Given the description of an element on the screen output the (x, y) to click on. 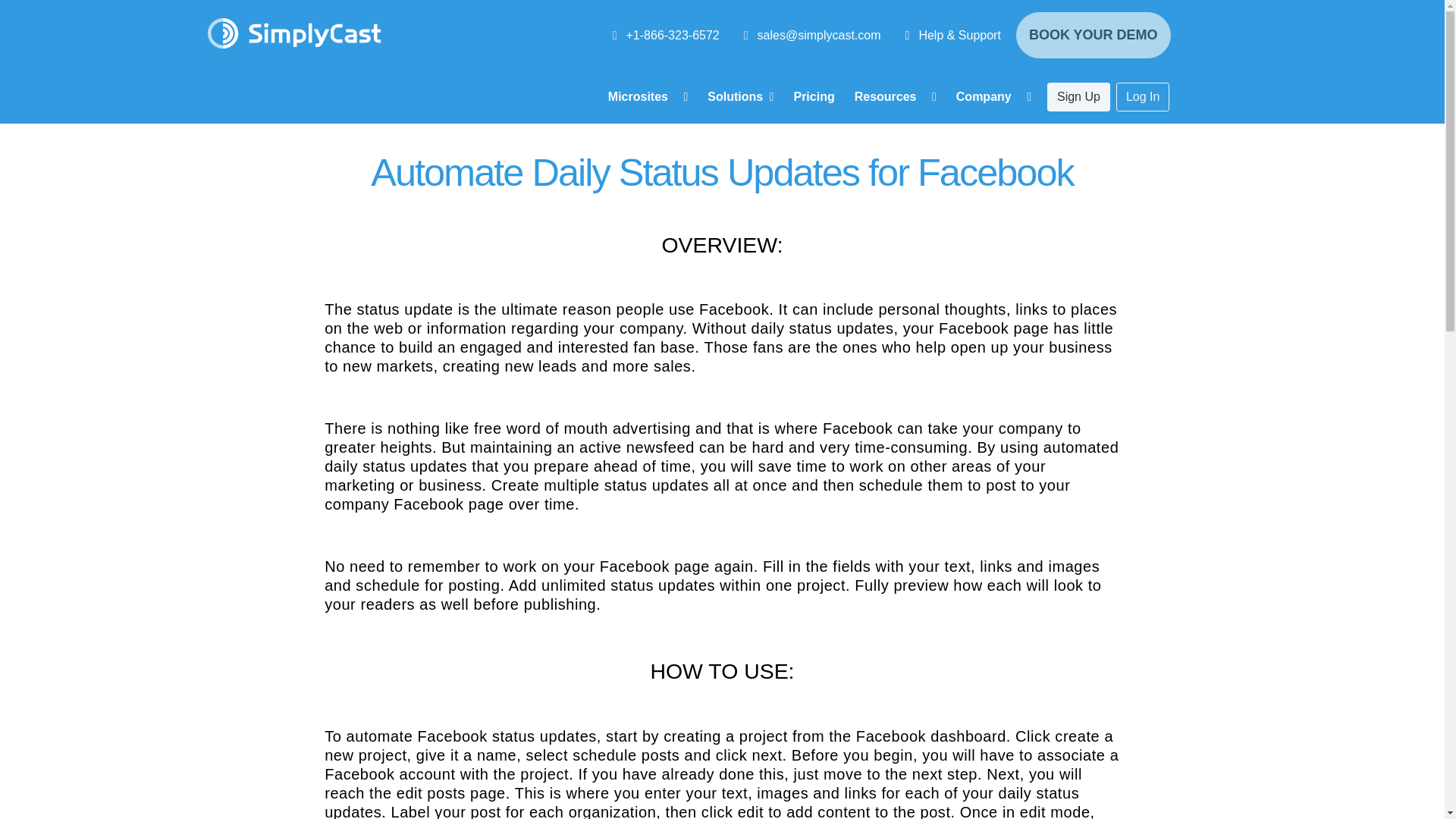
Solutions (740, 96)
BOOK YOUR DEMO (1093, 35)
Microsites (647, 96)
